Given the description of an element on the screen output the (x, y) to click on. 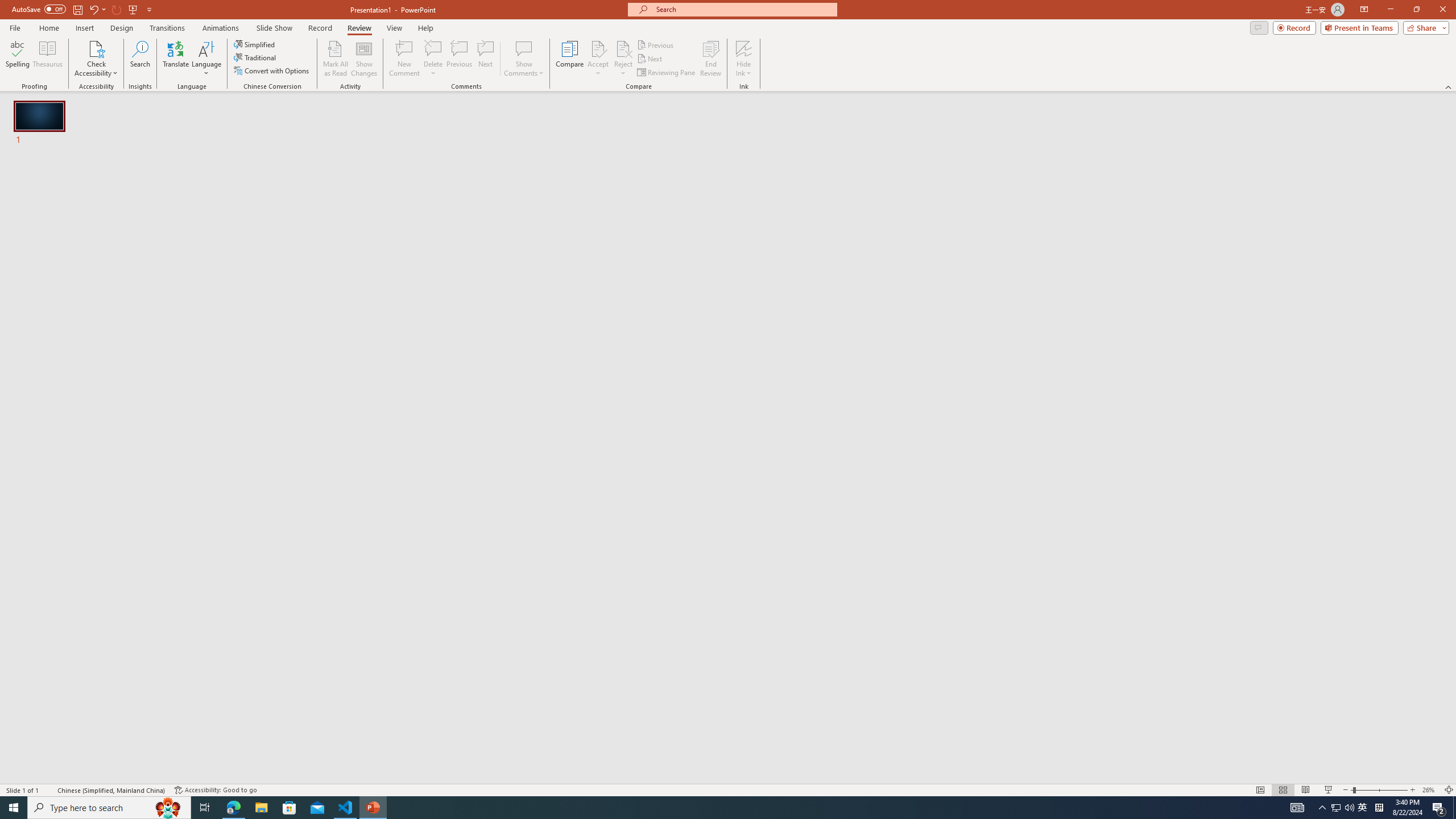
Compare (569, 58)
Show Changes (363, 58)
Translate (175, 58)
